Given the description of an element on the screen output the (x, y) to click on. 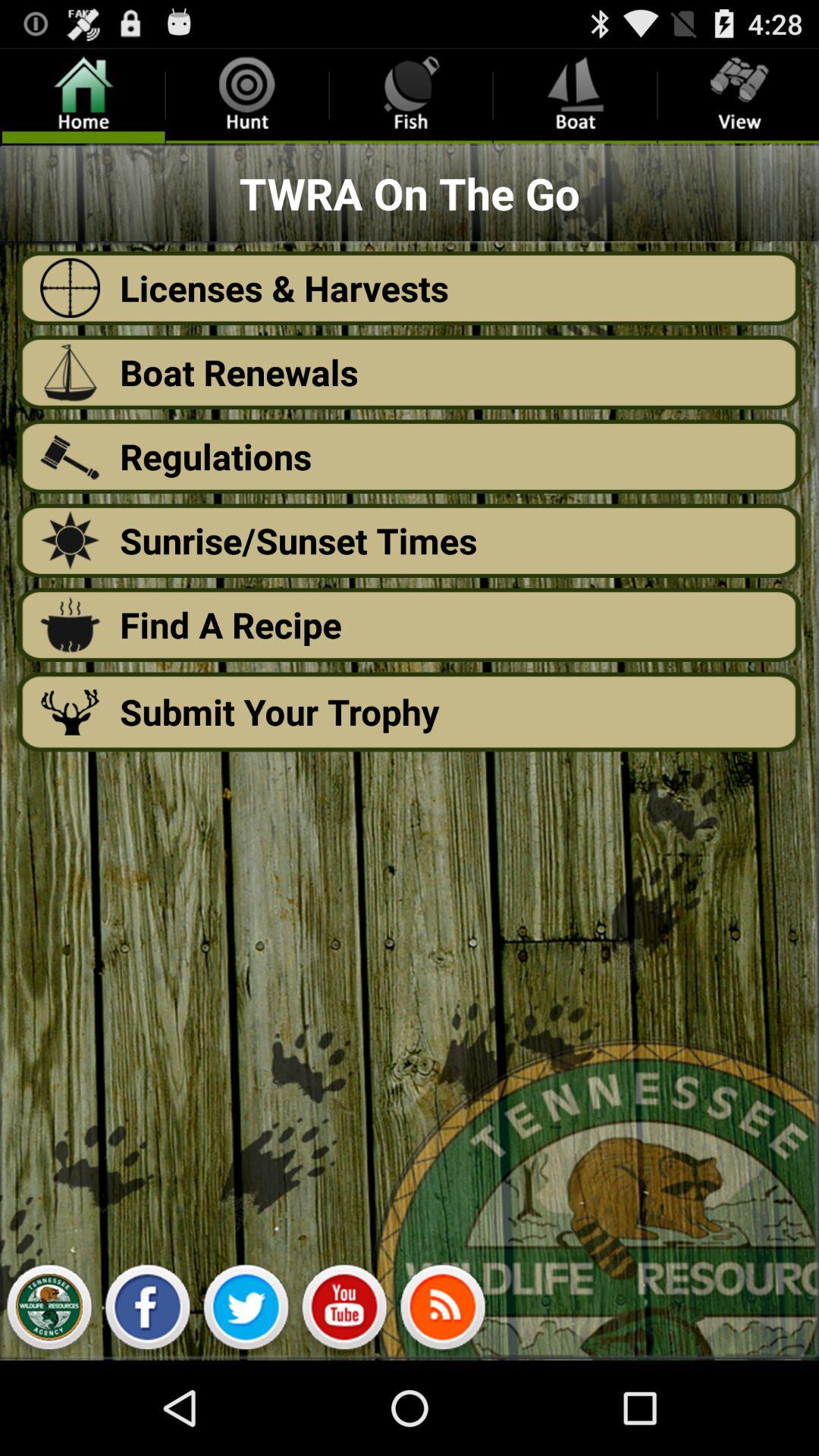
share button to youtube (344, 1311)
